Given the description of an element on the screen output the (x, y) to click on. 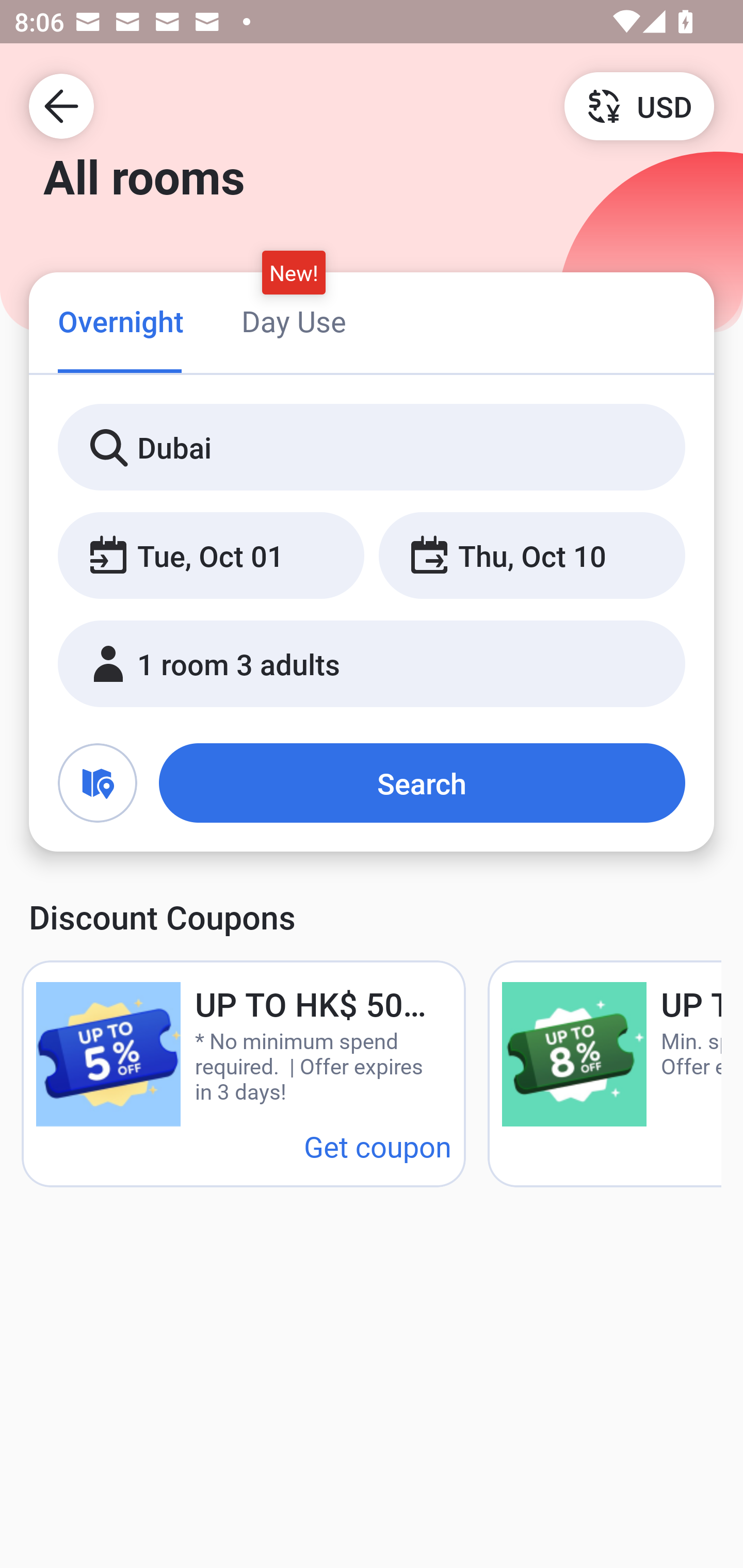
USD (639, 105)
New! (294, 272)
Day Use (293, 321)
Dubai (371, 447)
Tue, Oct 01 (210, 555)
Thu, Oct 10 (531, 555)
1 room 3 adults (371, 663)
Search (422, 783)
Get coupon (377, 1146)
